Given the description of an element on the screen output the (x, y) to click on. 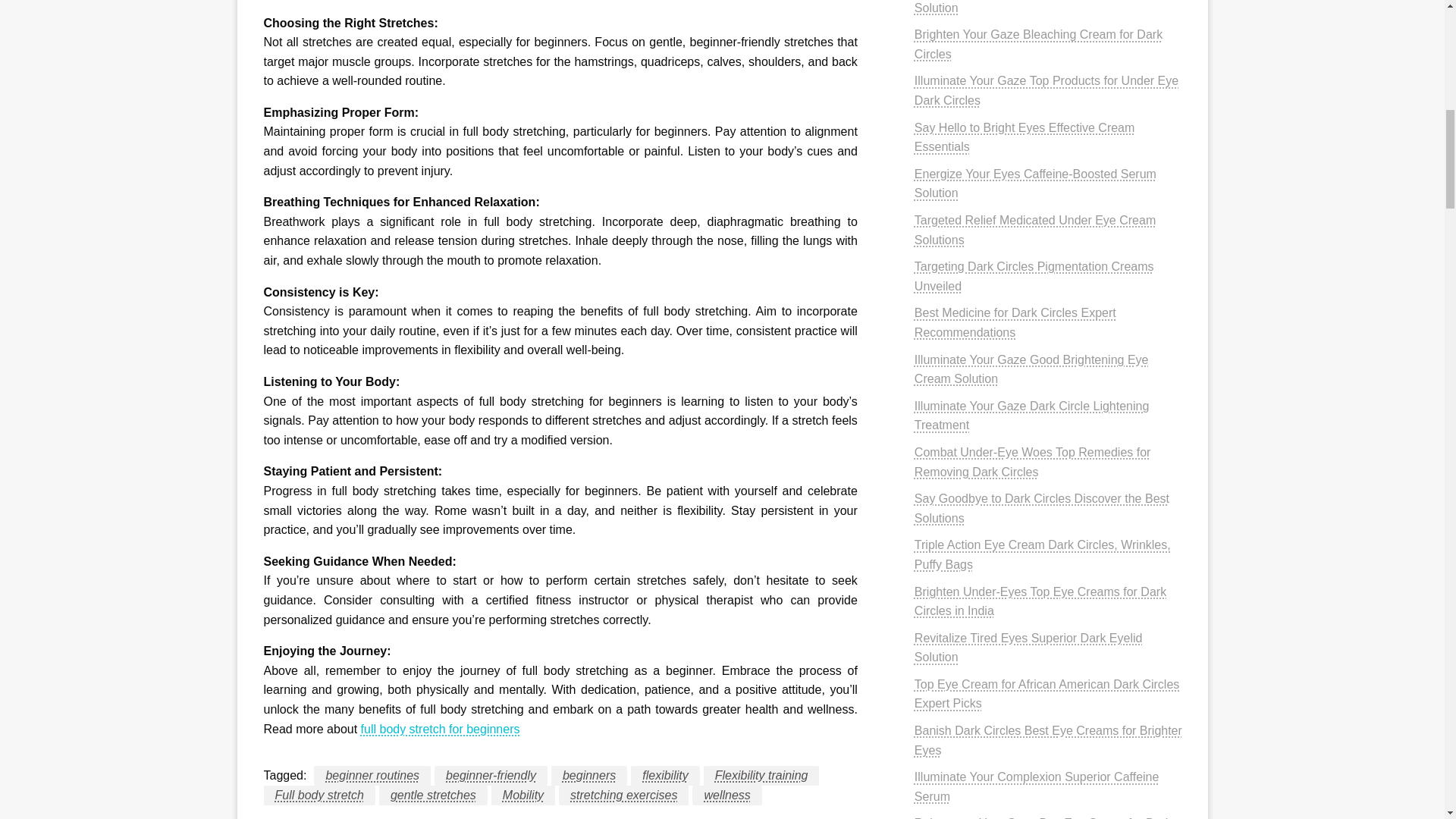
full body stretch for beginners (440, 728)
flexibility (664, 775)
Mobility (523, 795)
Full body stretch (319, 795)
beginners (589, 775)
gentle stretches (432, 795)
stretching exercises (623, 795)
beginner routines (372, 775)
beginner-friendly (490, 775)
Flexibility training (761, 775)
